Given the description of an element on the screen output the (x, y) to click on. 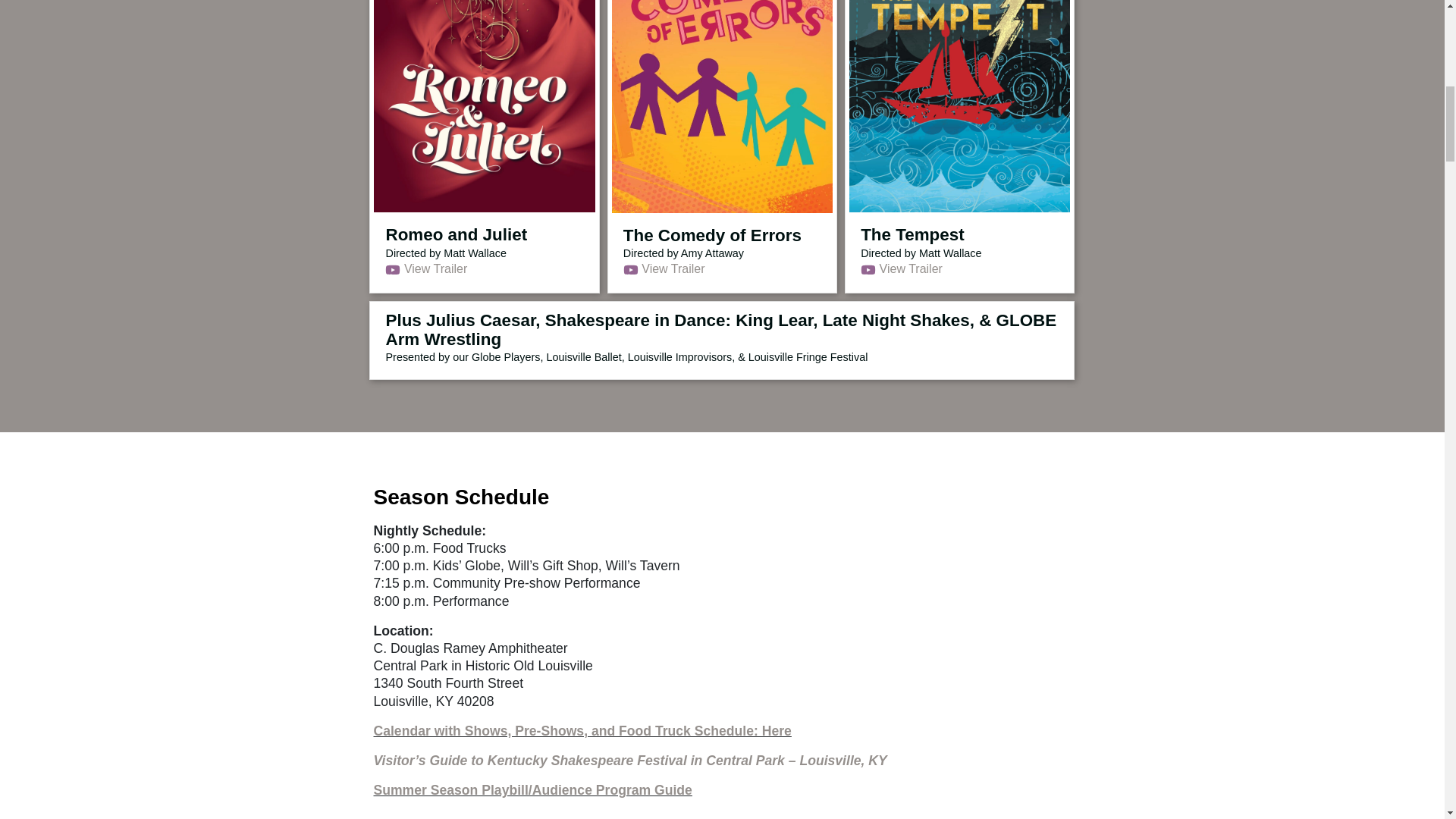
View Trailer (722, 268)
View Trailer (484, 268)
View Trailer (959, 268)
